Given the description of an element on the screen output the (x, y) to click on. 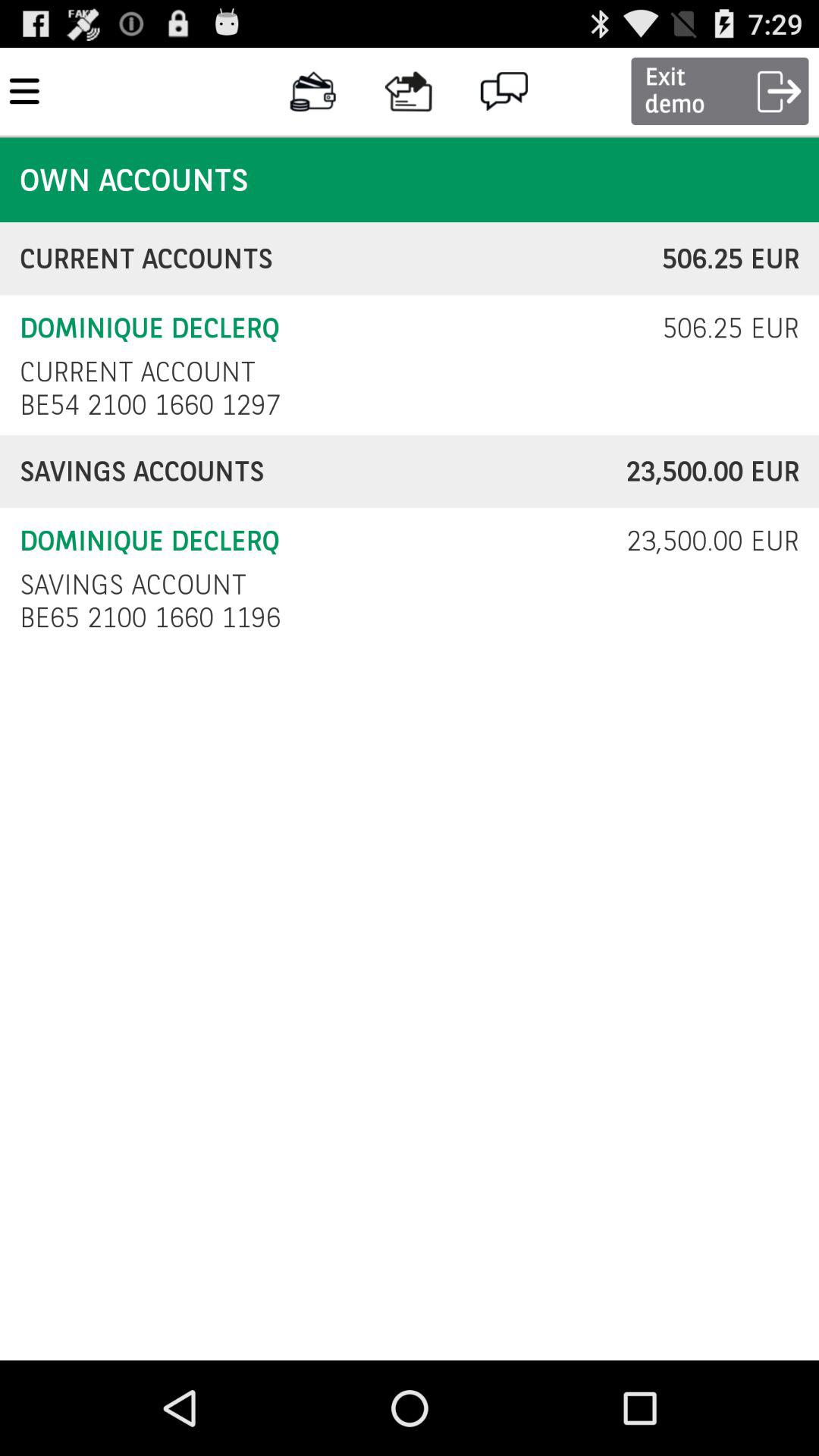
flip to be65 2100 1660 icon (153, 617)
